Given the description of an element on the screen output the (x, y) to click on. 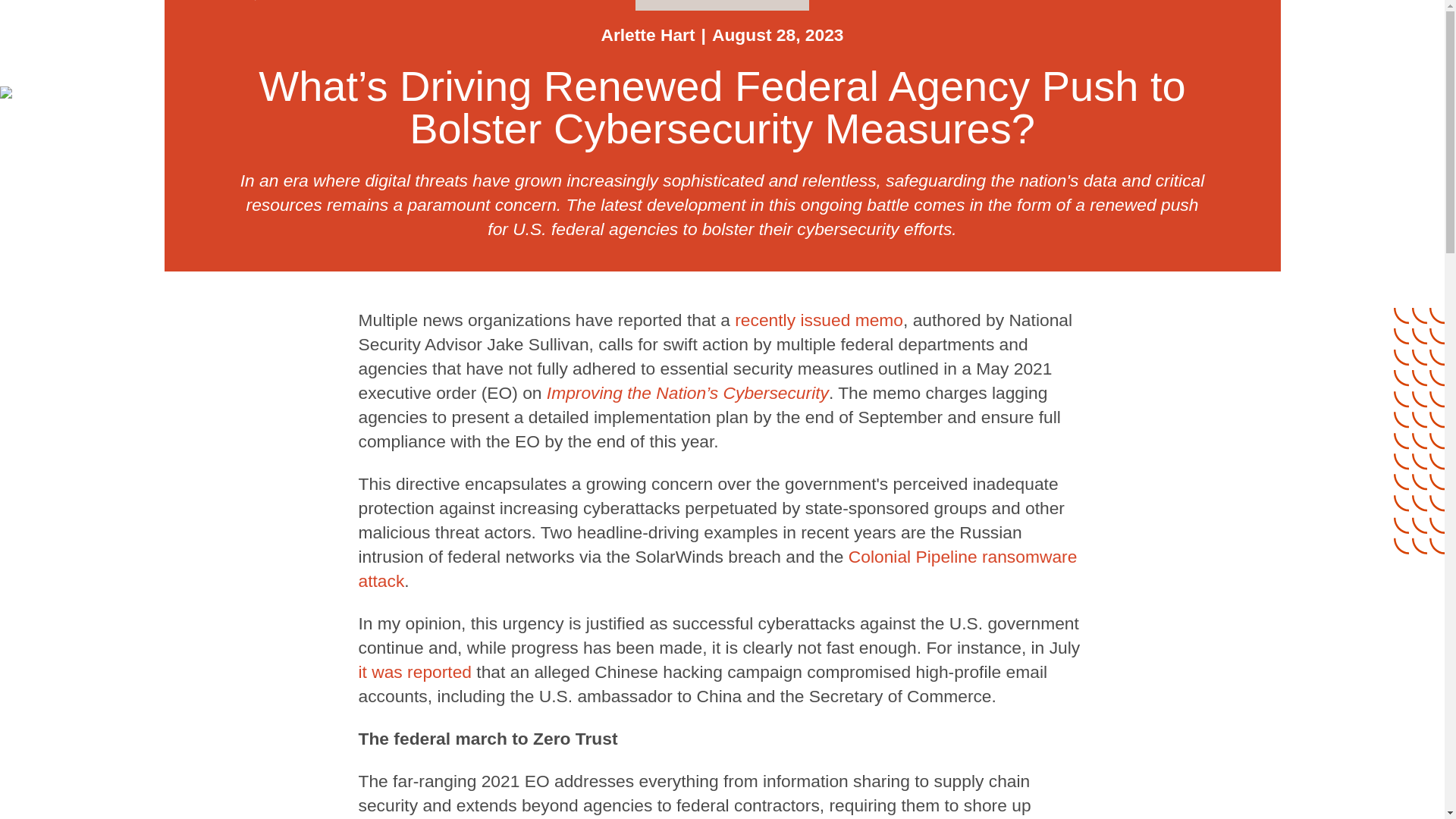
SECURE NETWORK ACCESS (721, 5)
